Given the description of an element on the screen output the (x, y) to click on. 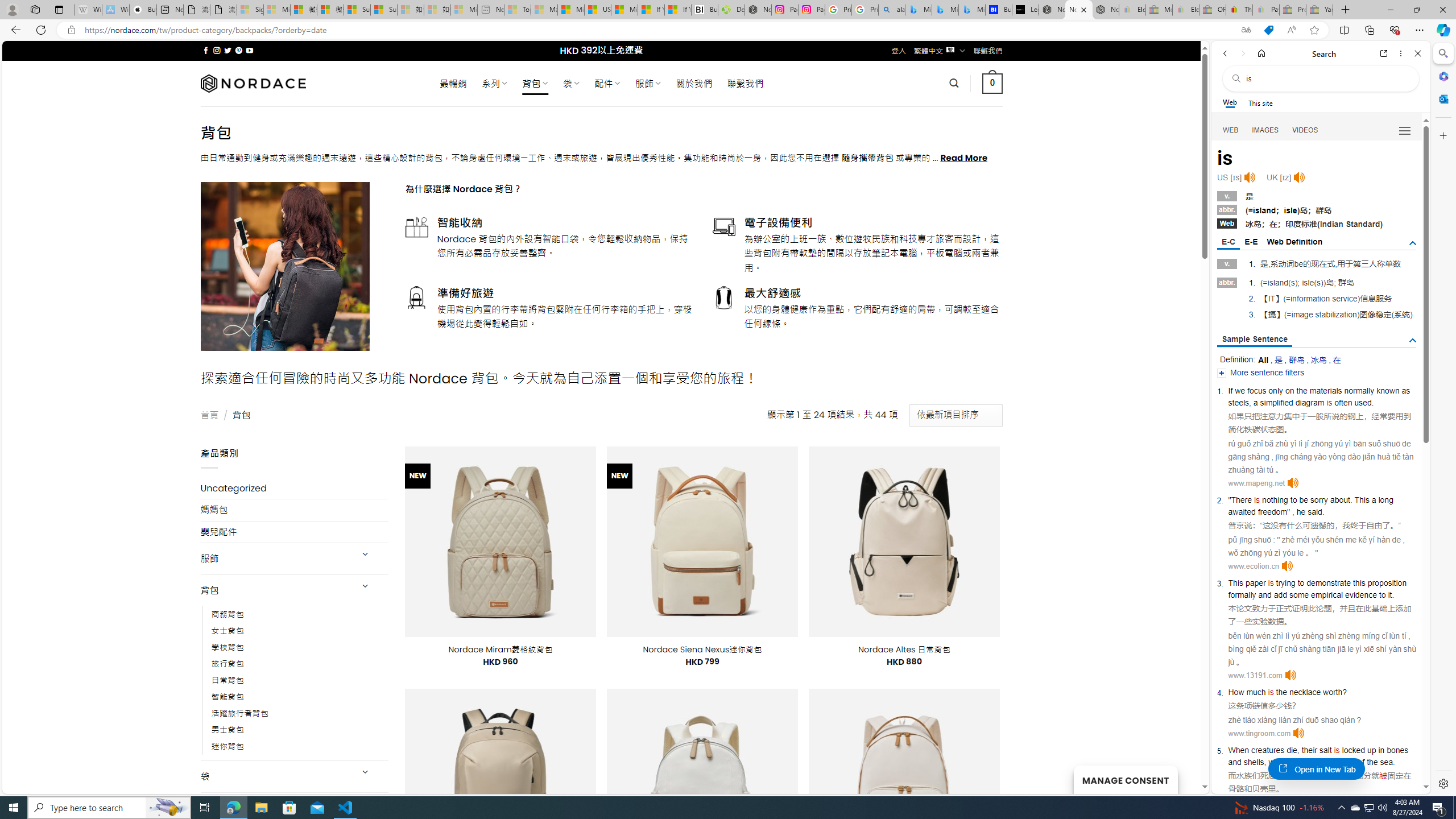
MANAGE CONSENT (1125, 779)
